Given the description of an element on the screen output the (x, y) to click on. 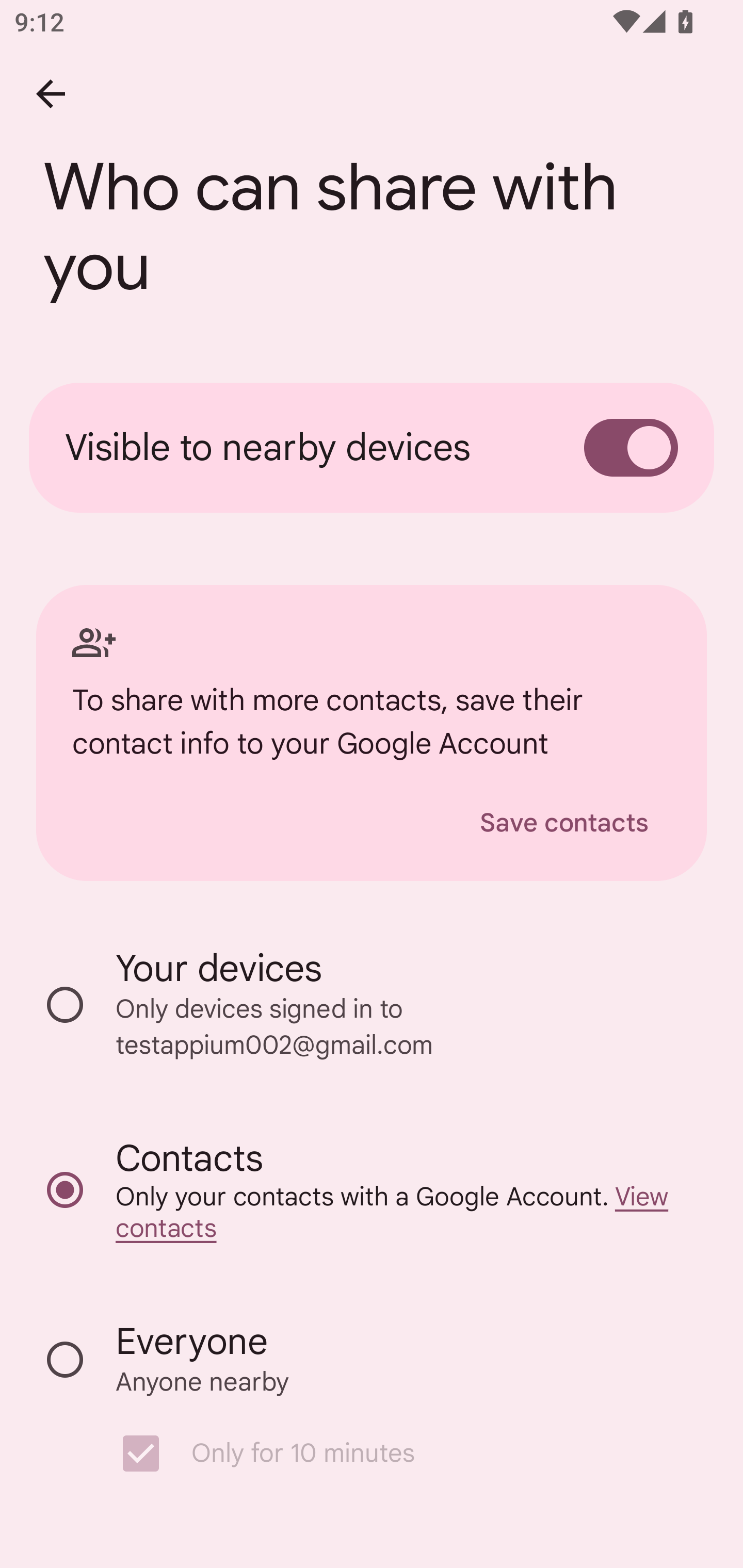
Back (50, 93)
Visible to nearby devices (371, 447)
Save contacts (564, 823)
Everyone Anyone nearby Only for 10 minutes (371, 1406)
Only for 10 minutes (382, 1453)
